Given the description of an element on the screen output the (x, y) to click on. 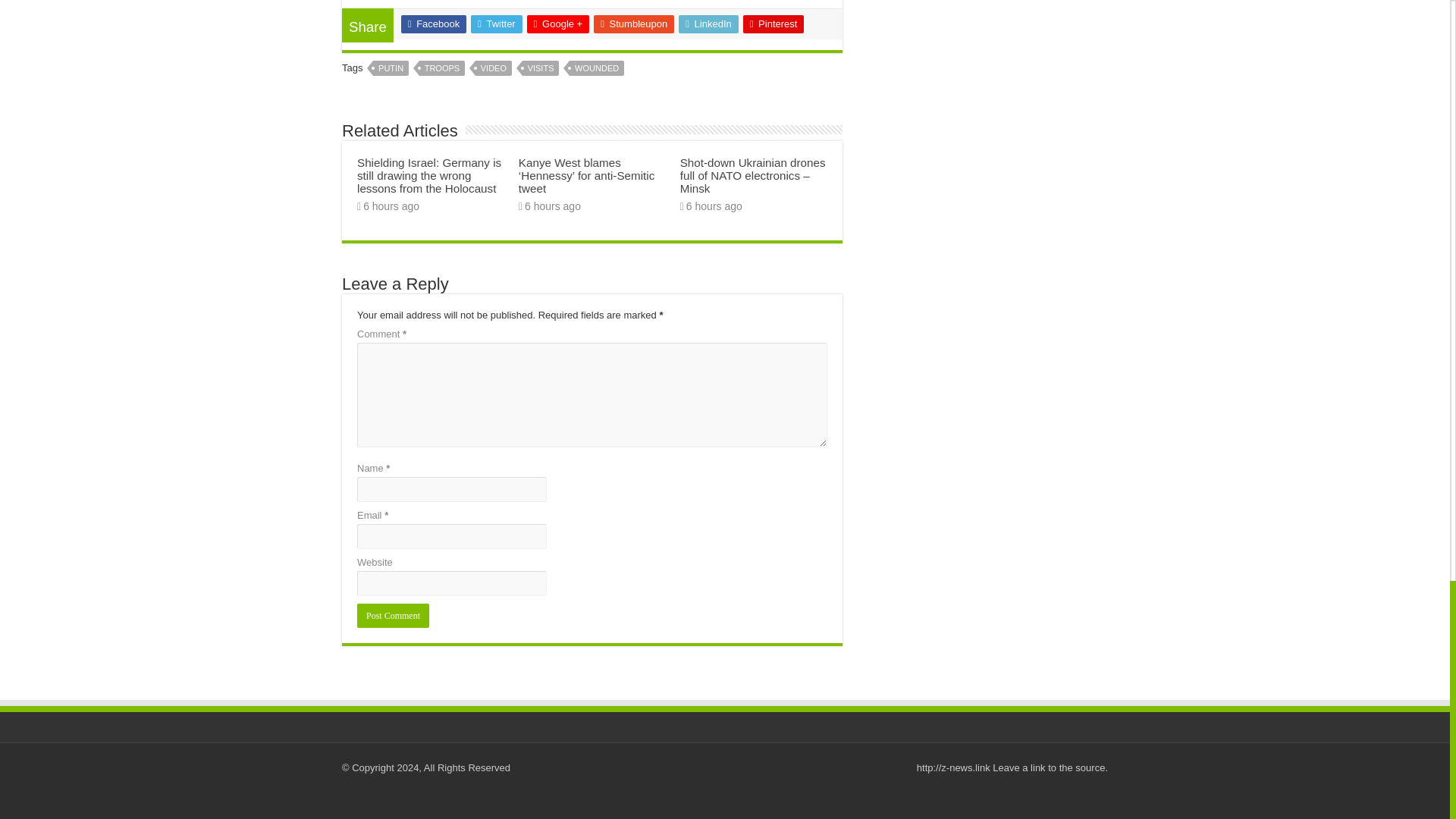
VISITS (540, 68)
Facebook (433, 24)
Stumbleupon (634, 24)
PUTIN (390, 68)
TROOPS (441, 68)
Twitter (495, 24)
Pinterest (773, 24)
LinkedIn (708, 24)
Post Comment (392, 615)
VIDEO (494, 68)
